Given the description of an element on the screen output the (x, y) to click on. 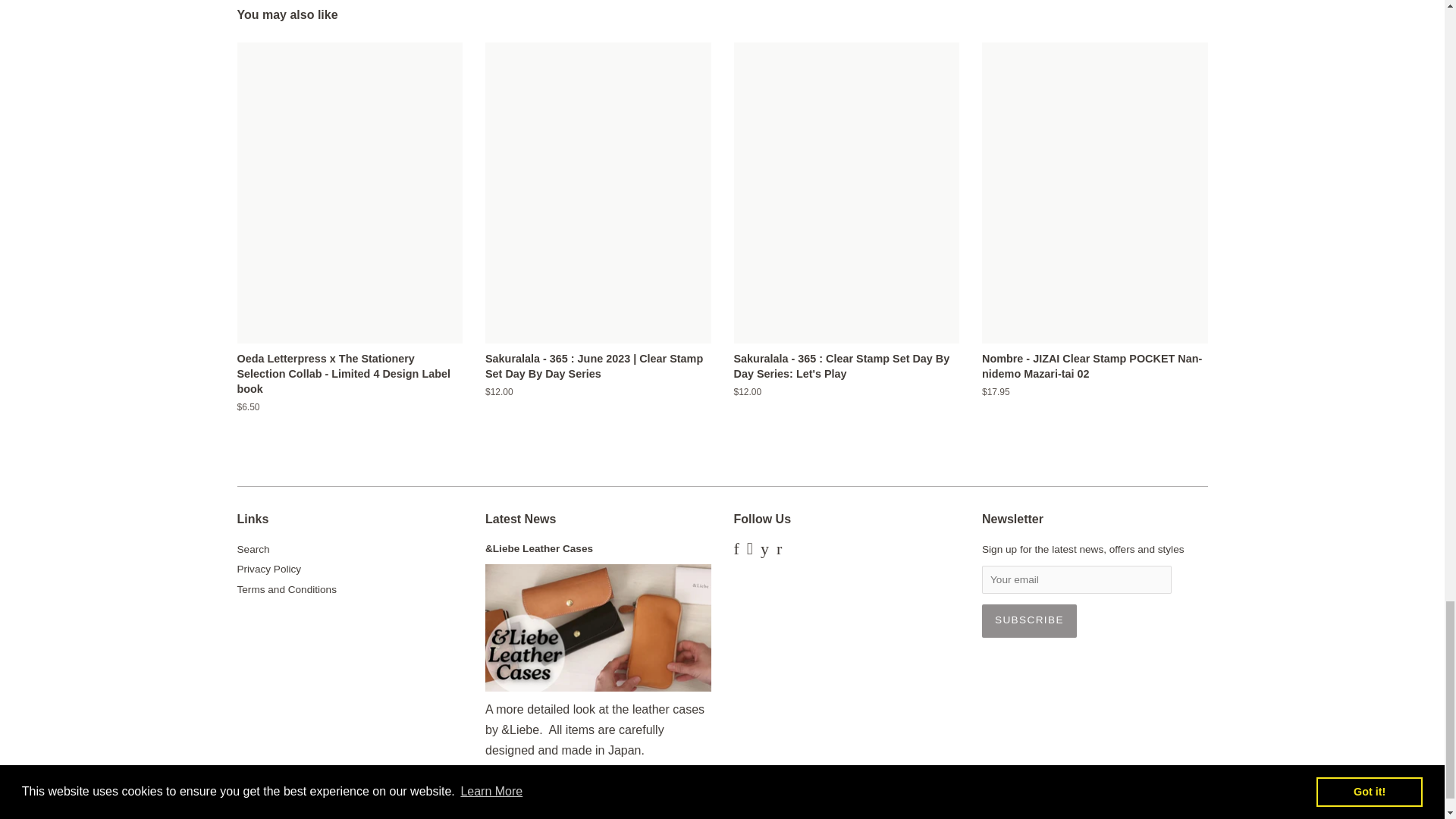
Apple Pay (590, 814)
Discover (678, 814)
Subscribe (1029, 621)
Google Pay (721, 814)
PayPal (852, 814)
Visa (896, 814)
Mastercard (809, 814)
JCB (765, 814)
Diners Club (635, 814)
American Express (548, 814)
